Given the description of an element on the screen output the (x, y) to click on. 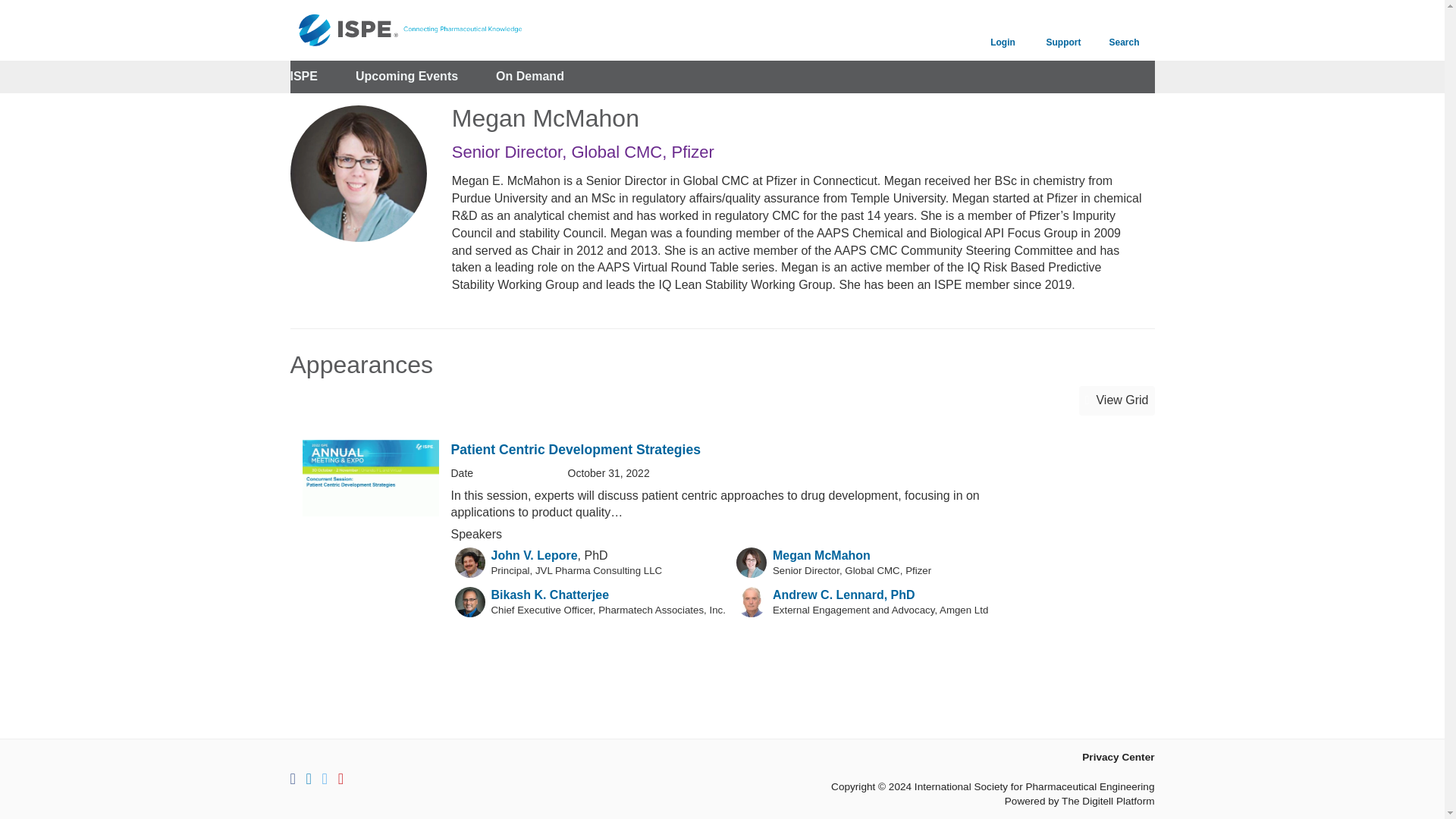
Andrew C. Lennard, PhD (844, 594)
Login (1002, 30)
Privacy Center (1117, 756)
Patient Centric Development Strategies (574, 449)
Speaker Image for Andrew Lennard, PhD (751, 602)
On Demand (530, 76)
Search (1123, 30)
Search (1123, 30)
Support (1062, 30)
Upcoming Events (406, 76)
Speaker Image for John Lepore (469, 562)
ISPE (303, 76)
Login (1002, 30)
Megan McMahon (821, 554)
Speaker Image for Bikash Chatterjee (469, 602)
